Given the description of an element on the screen output the (x, y) to click on. 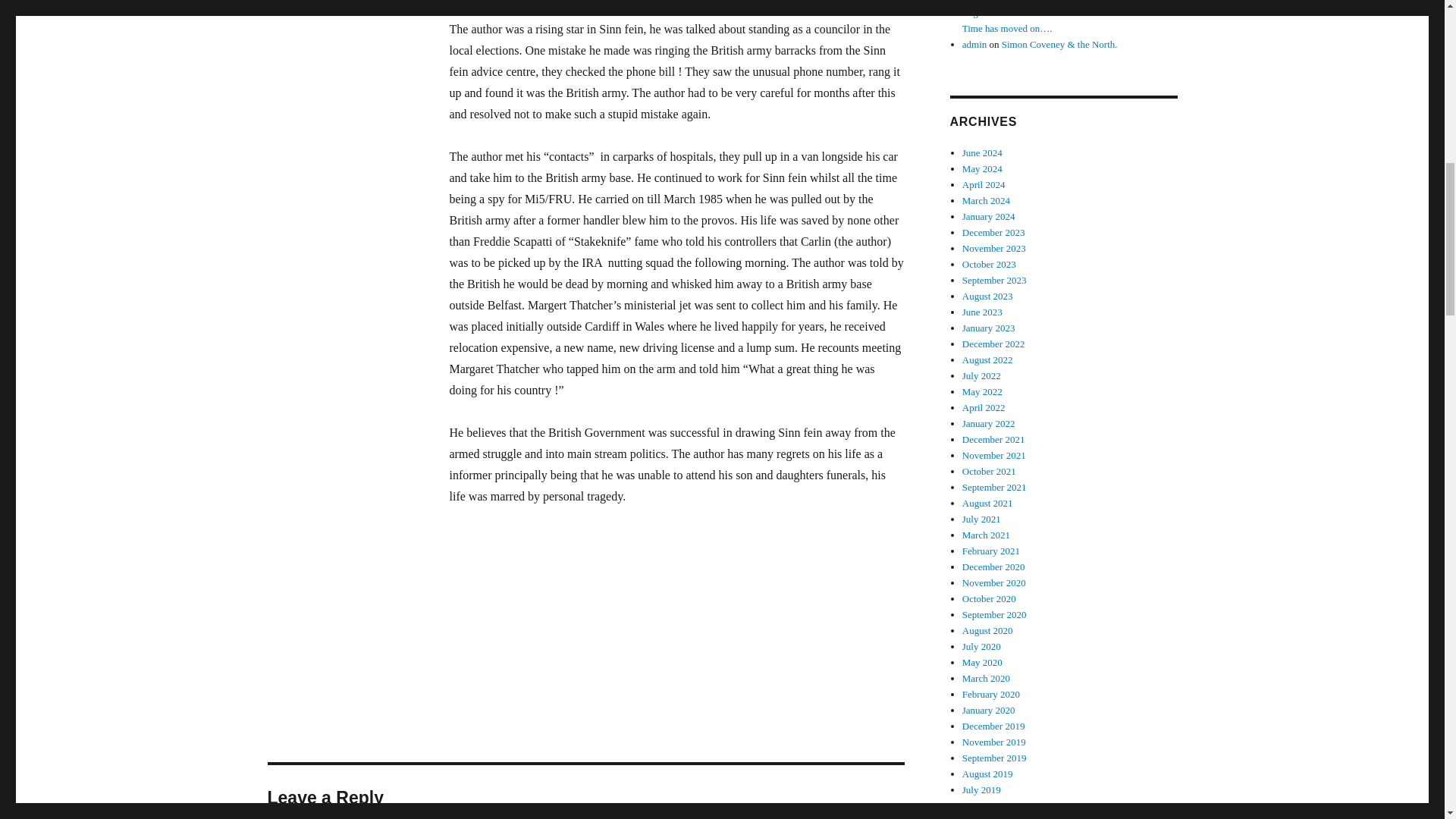
June 2024 (982, 152)
March 2024 (986, 200)
January 2024 (988, 215)
May 2024 (982, 168)
admin (974, 43)
November 2023 (994, 247)
December 2023 (993, 232)
April 2024 (984, 184)
